Given the description of an element on the screen output the (x, y) to click on. 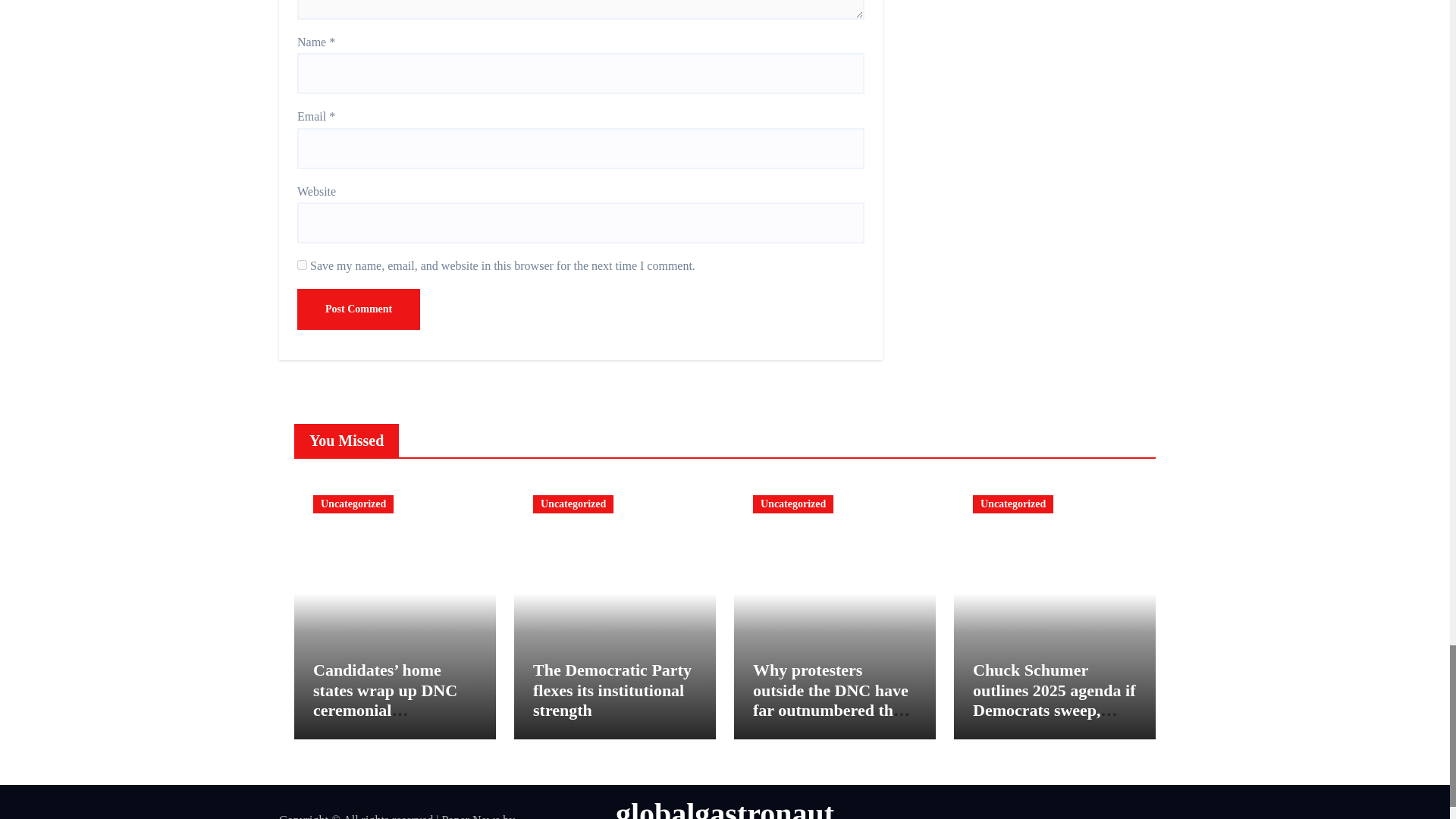
yes (302, 265)
Post Comment (358, 309)
